Given the description of an element on the screen output the (x, y) to click on. 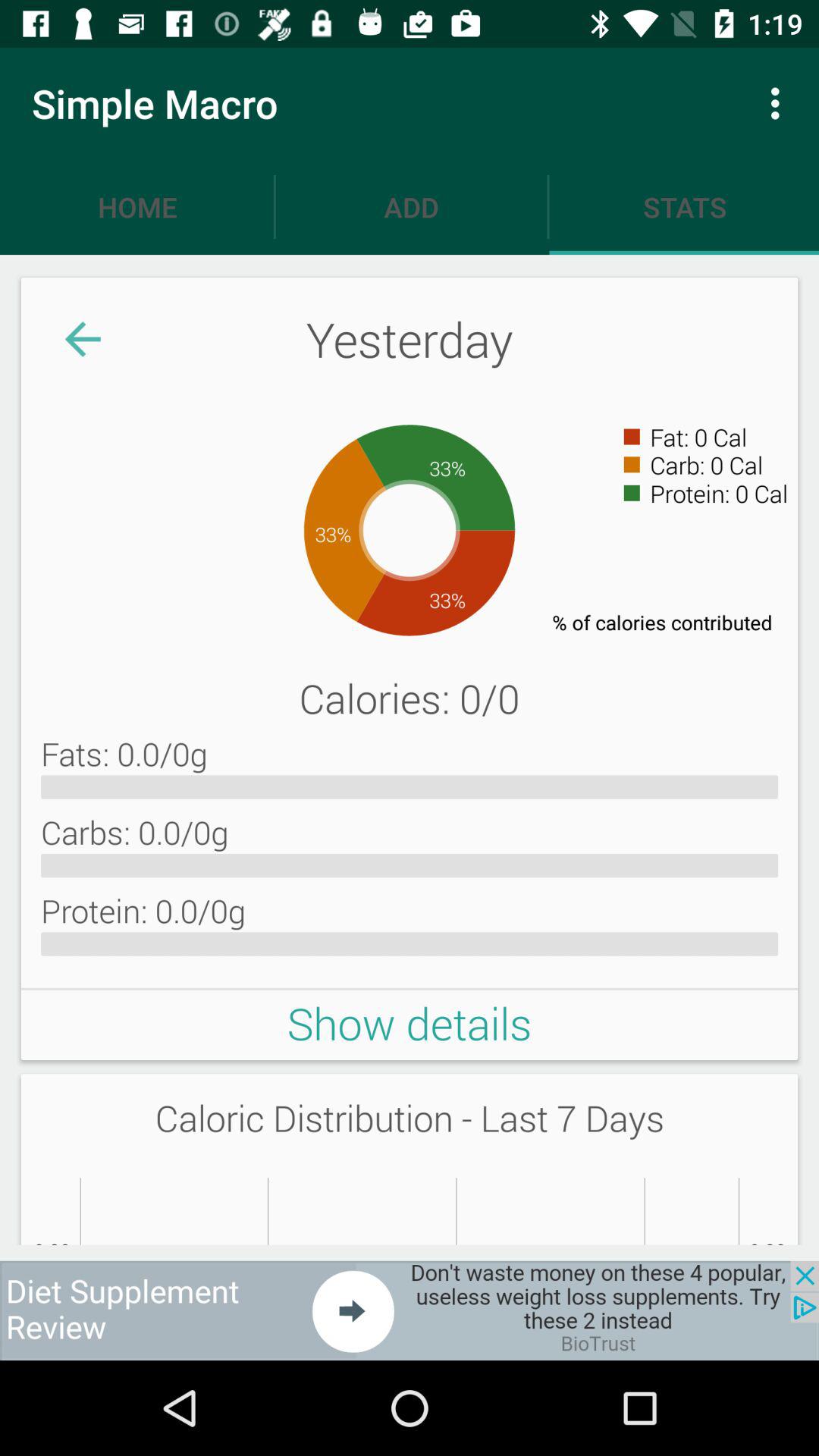
view advertisement (409, 1310)
